Given the description of an element on the screen output the (x, y) to click on. 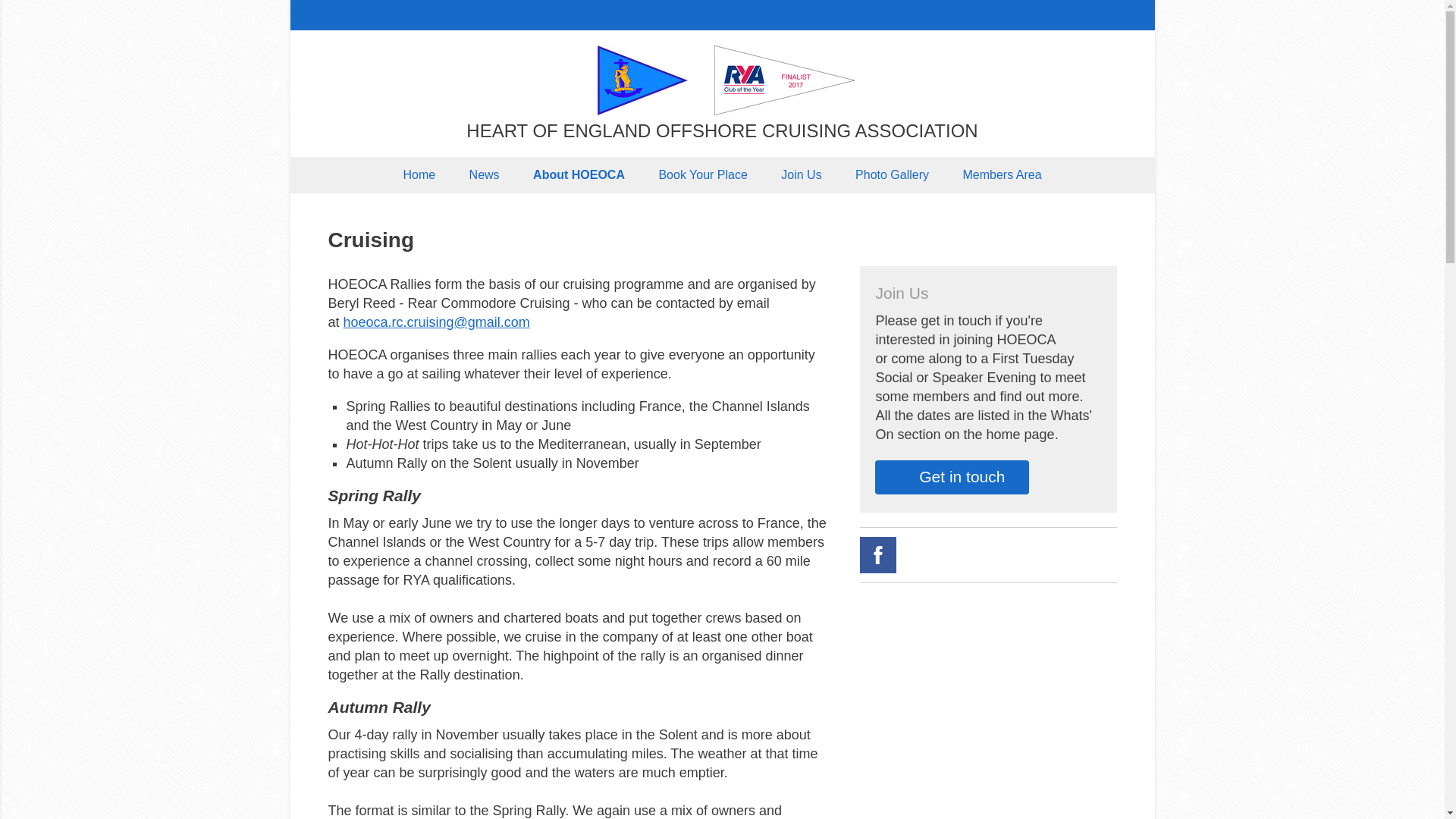
Follow us on Facebook (878, 555)
